Given the description of an element on the screen output the (x, y) to click on. 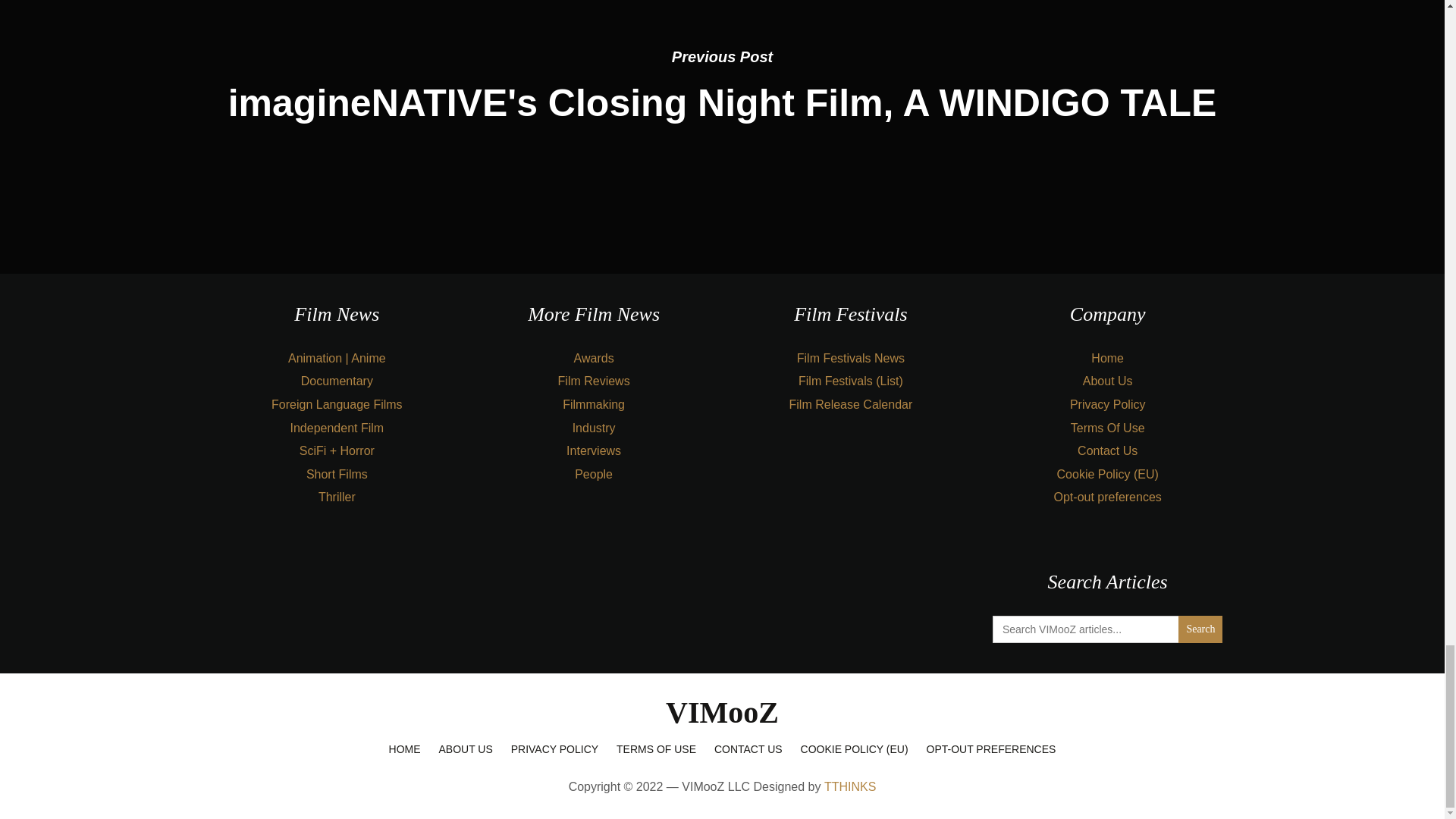
Search (1200, 628)
Search (1200, 628)
